Given the description of an element on the screen output the (x, y) to click on. 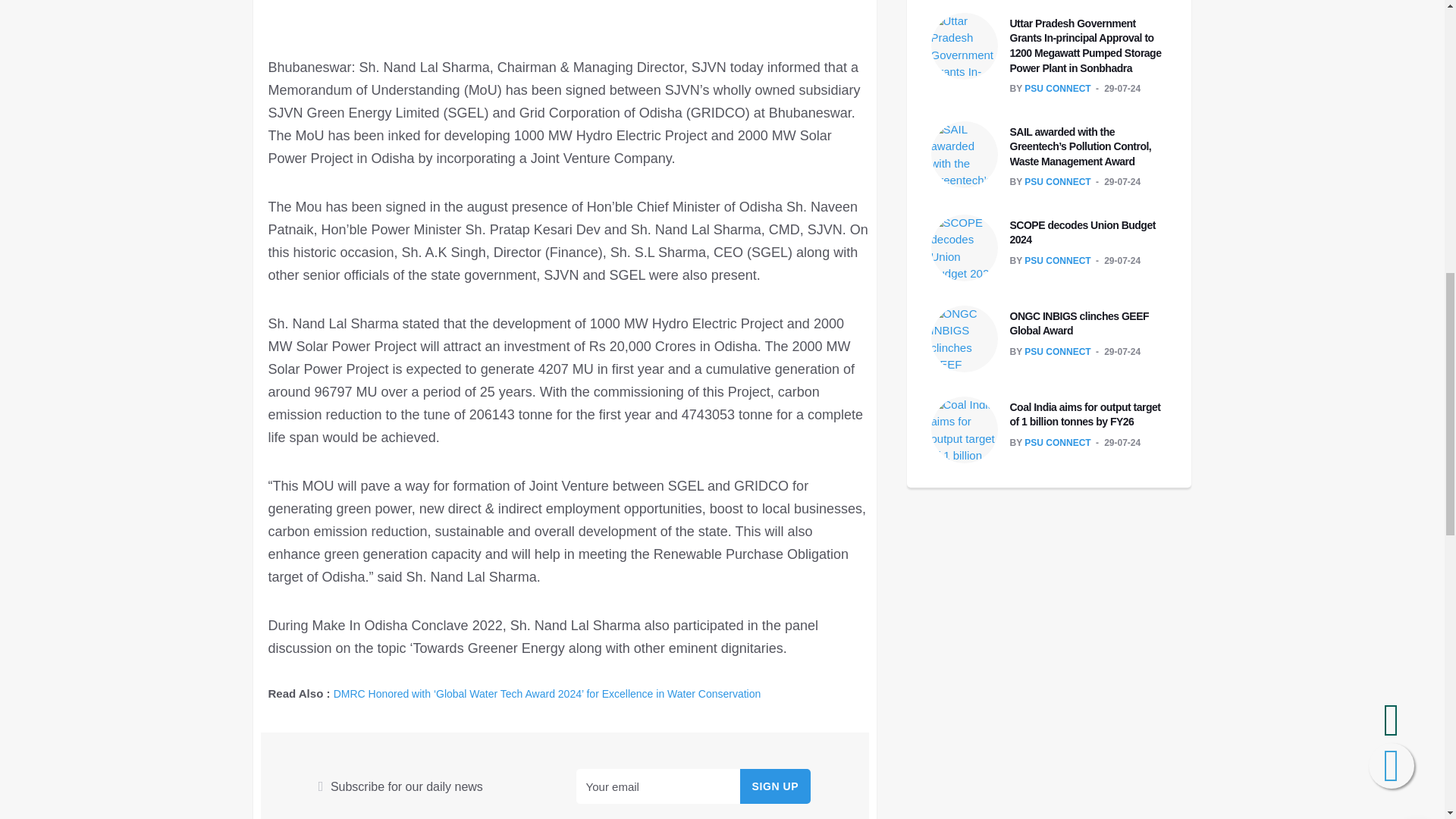
Sign Up (774, 786)
